Given the description of an element on the screen output the (x, y) to click on. 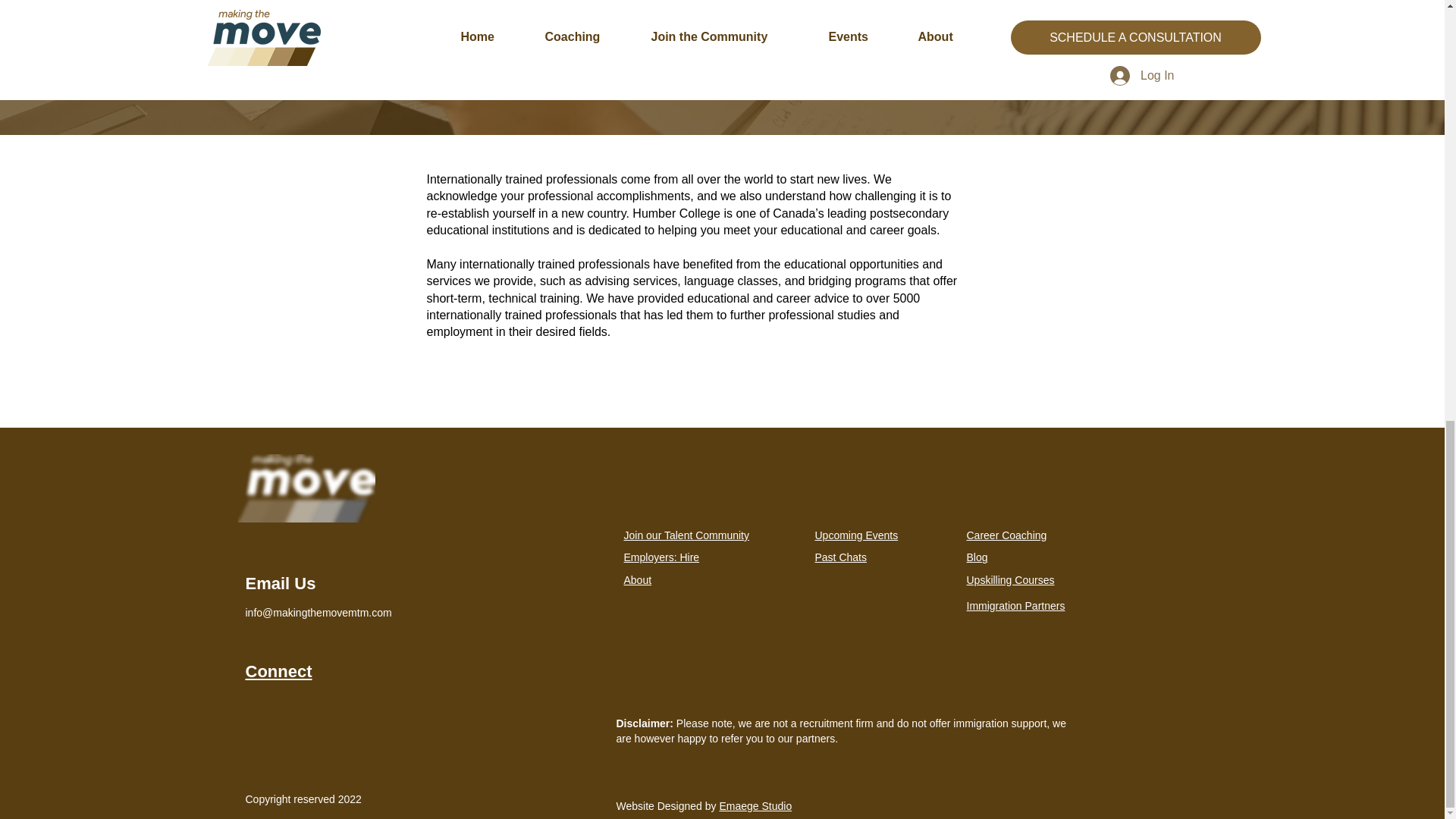
Past Chats (839, 557)
Immigration Partners (1015, 605)
Connect (279, 670)
About (636, 580)
Employers: Hire (660, 557)
Blog (976, 557)
Career Coaching (1006, 535)
Submit (720, 13)
Upcoming Events (855, 535)
Join our Talent Community (685, 535)
Upskilling Courses (1010, 580)
Emaege Studio (755, 806)
